Given the description of an element on the screen output the (x, y) to click on. 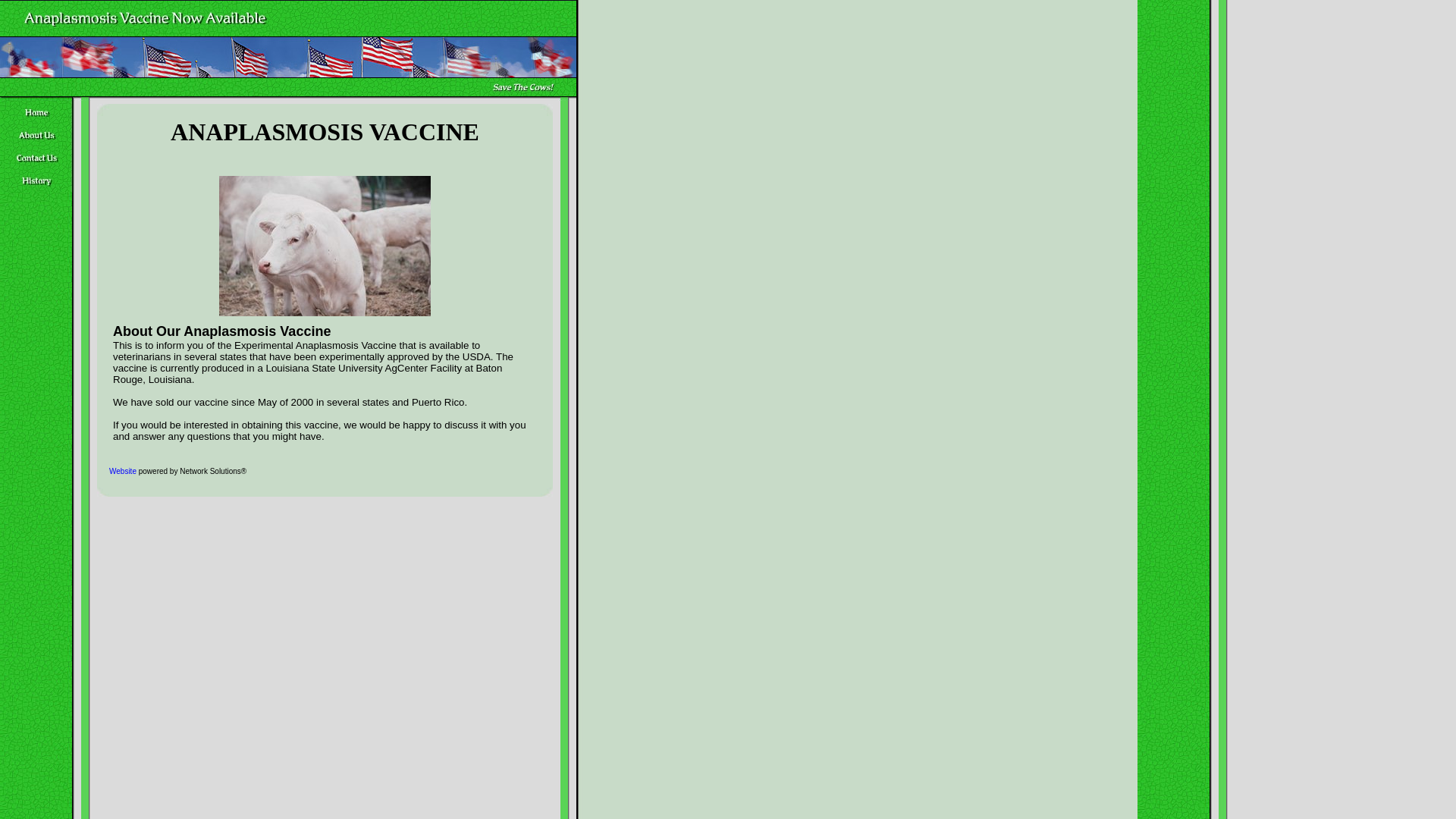
Website (122, 470)
